Given the description of an element on the screen output the (x, y) to click on. 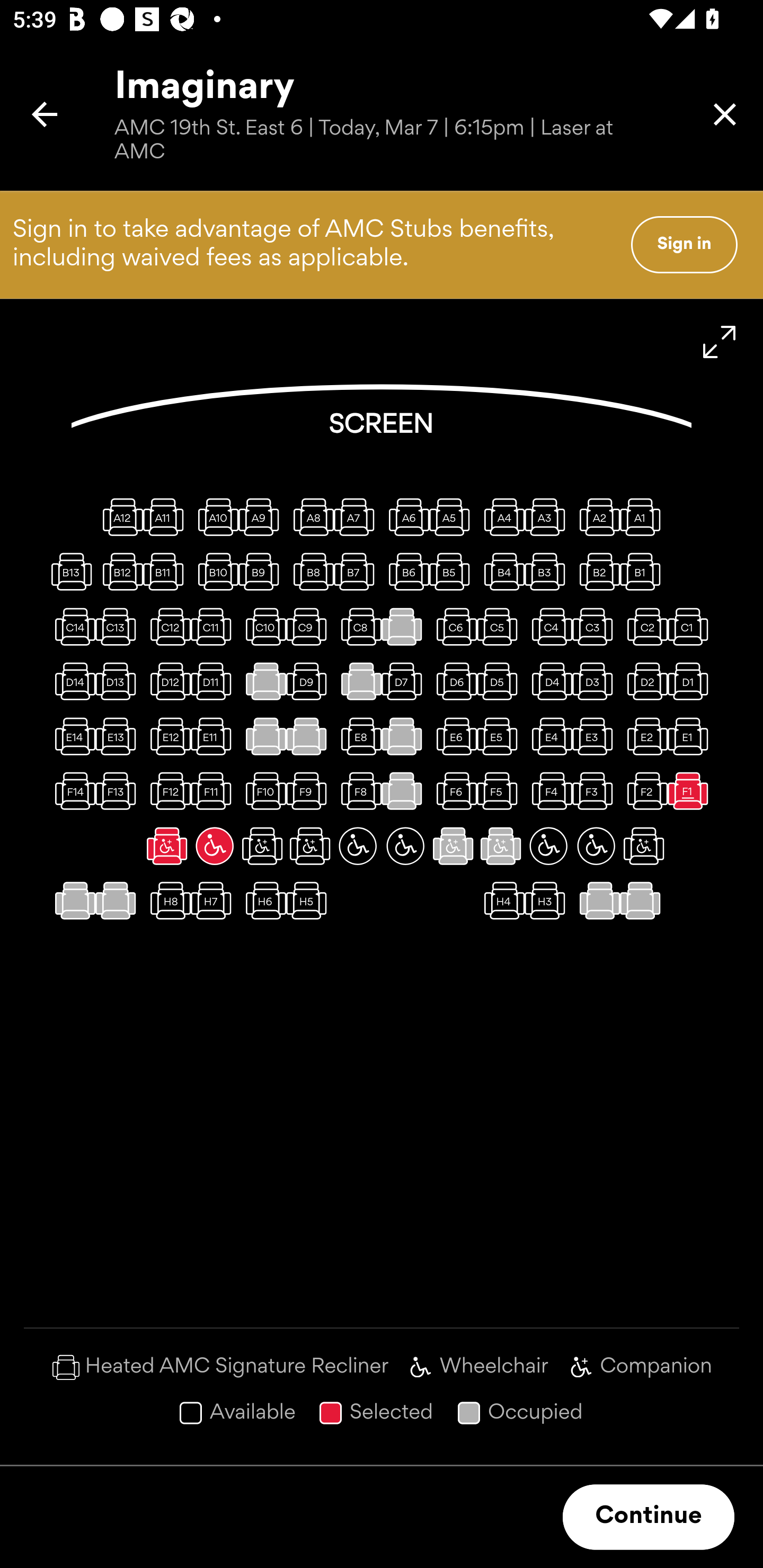
Back (44, 114)
Close (724, 114)
Sign in (684, 244)
Zoom (719, 342)
A12, Regular seat, available (119, 516)
A11, Regular seat, available (166, 516)
A10, Regular seat, available (214, 516)
A9, Regular seat, available (262, 516)
A8, Regular seat, available (310, 516)
A7, Regular seat, available (357, 516)
A6, Regular seat, available (404, 516)
A5, Regular seat, available (452, 516)
A4, Regular seat, available (500, 516)
A3, Regular seat, available (548, 516)
A2, Regular seat, available (595, 516)
A1, Regular seat, available (643, 516)
B13, Regular seat, available (71, 571)
B12, Regular seat, available (119, 571)
B11, Regular seat, available (166, 571)
B10, Regular seat, available (214, 571)
B9, Regular seat, available (262, 571)
B8, Regular seat, available (310, 571)
B7, Regular seat, available (357, 571)
B6, Regular seat, available (404, 571)
B5, Regular seat, available (452, 571)
B4, Regular seat, available (500, 571)
B3, Regular seat, available (548, 571)
B2, Regular seat, available (595, 571)
B1, Regular seat, available (643, 571)
C14, Regular seat, available (71, 625)
C13, Regular seat, available (119, 625)
C12, Regular seat, available (166, 625)
C11, Regular seat, available (214, 625)
C10, Regular seat, available (262, 625)
C9, Regular seat, available (310, 625)
C8, Regular seat, available (357, 625)
C6, Regular seat, available (452, 625)
C5, Regular seat, available (500, 625)
C4, Regular seat, available (548, 625)
C3, Regular seat, available (595, 625)
C2, Regular seat, available (643, 625)
C1, Regular seat, available (691, 625)
D14, Regular seat, available (71, 680)
D13, Regular seat, available (119, 680)
D12, Regular seat, available (166, 680)
D11, Regular seat, available (214, 680)
D9, Regular seat, available (310, 680)
D7, Regular seat, available (404, 680)
D6, Regular seat, available (452, 680)
D5, Regular seat, available (500, 680)
D4, Regular seat, available (548, 680)
D3, Regular seat, available (595, 680)
D2, Regular seat, available (643, 680)
D1, Regular seat, available (691, 680)
E14, Regular seat, available (71, 735)
E13, Regular seat, available (119, 735)
E12, Regular seat, available (166, 735)
E11, Regular seat, available (214, 735)
E8, Regular seat, available (357, 735)
E6, Regular seat, available (452, 735)
E5, Regular seat, available (500, 735)
E4, Regular seat, available (548, 735)
E3, Regular seat, available (595, 735)
E2, Regular seat, available (643, 735)
E1, Regular seat, available (691, 735)
F14, Regular seat, available (71, 790)
F13, Regular seat, available (119, 790)
F12, Regular seat, available (166, 790)
F11, Regular seat, available (214, 790)
F10, Regular seat, available (262, 790)
F9, Regular seat, available (310, 790)
F8, Regular seat, available (357, 790)
F6, Regular seat, available (452, 790)
F5, Regular seat, available (500, 790)
F4, Regular seat, available (548, 790)
F3, Regular seat, available (595, 790)
F2, Regular seat, available (643, 790)
F1, Regular seat, selected (691, 790)
G11, Wheelchair companion seat, selected (166, 845)
G10, Wheelchair space, selected (214, 845)
G9, Wheelchair companion seat, available (262, 845)
G8, Wheelchair companion seat, available (310, 845)
G7, Wheelchair space, available (357, 845)
G6, Wheelchair space, available (404, 845)
G3, Wheelchair space, available (548, 845)
G2, Wheelchair space, available (595, 845)
G1, Wheelchair companion seat, available (643, 845)
H8, Regular seat, available (166, 900)
H7, Regular seat, available (214, 900)
H6, Regular seat, available (262, 900)
H5, Regular seat, available (310, 900)
H4, Regular seat, available (500, 900)
H3, Regular seat, available (548, 900)
Continue (648, 1516)
